Given the description of an element on the screen output the (x, y) to click on. 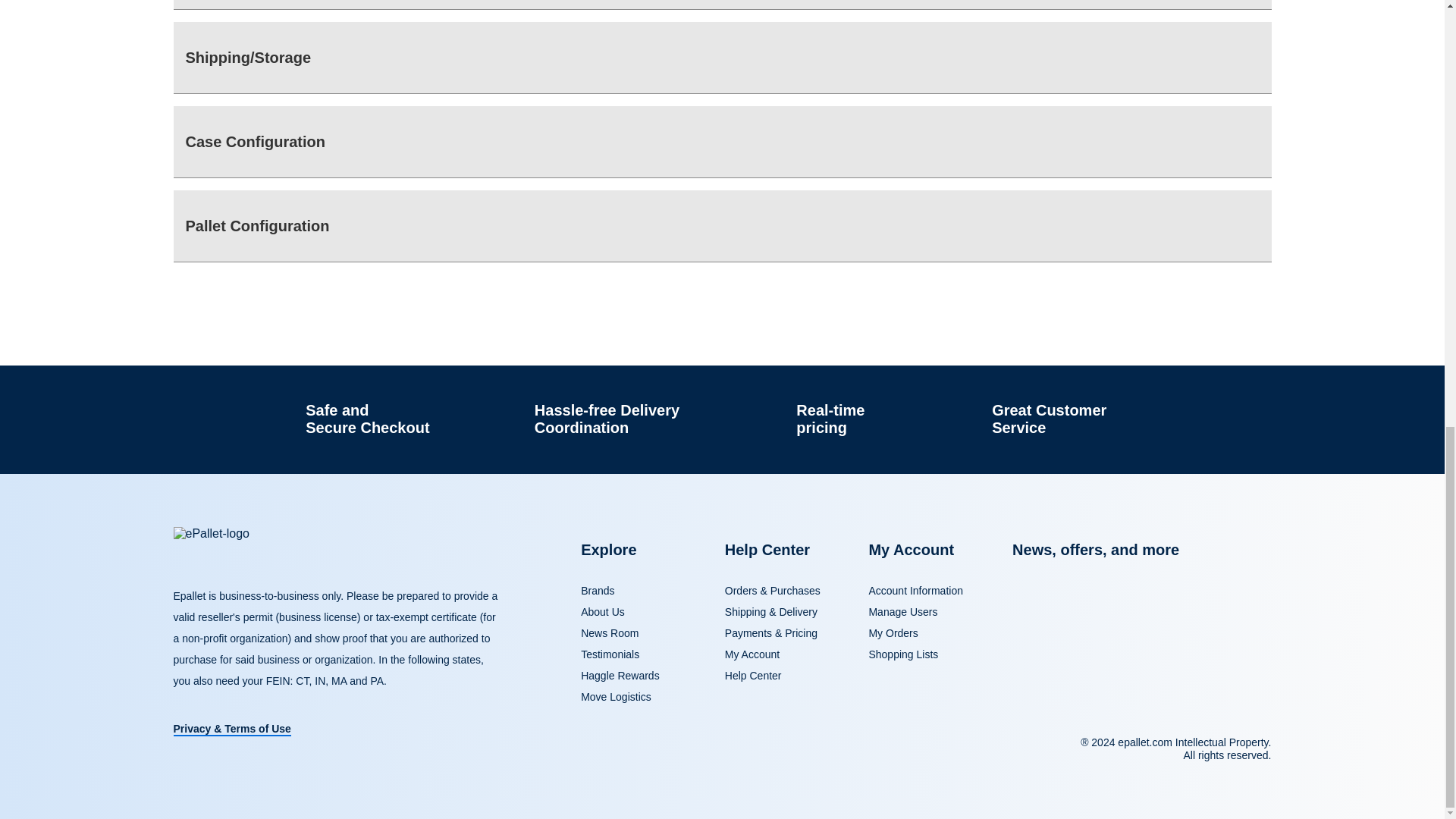
Move Logistics (615, 696)
About Us (602, 612)
Haggle Rewards (619, 675)
My Account (751, 654)
Testimonials (609, 654)
Brands (597, 590)
News Room (609, 633)
